Given the description of an element on the screen output the (x, y) to click on. 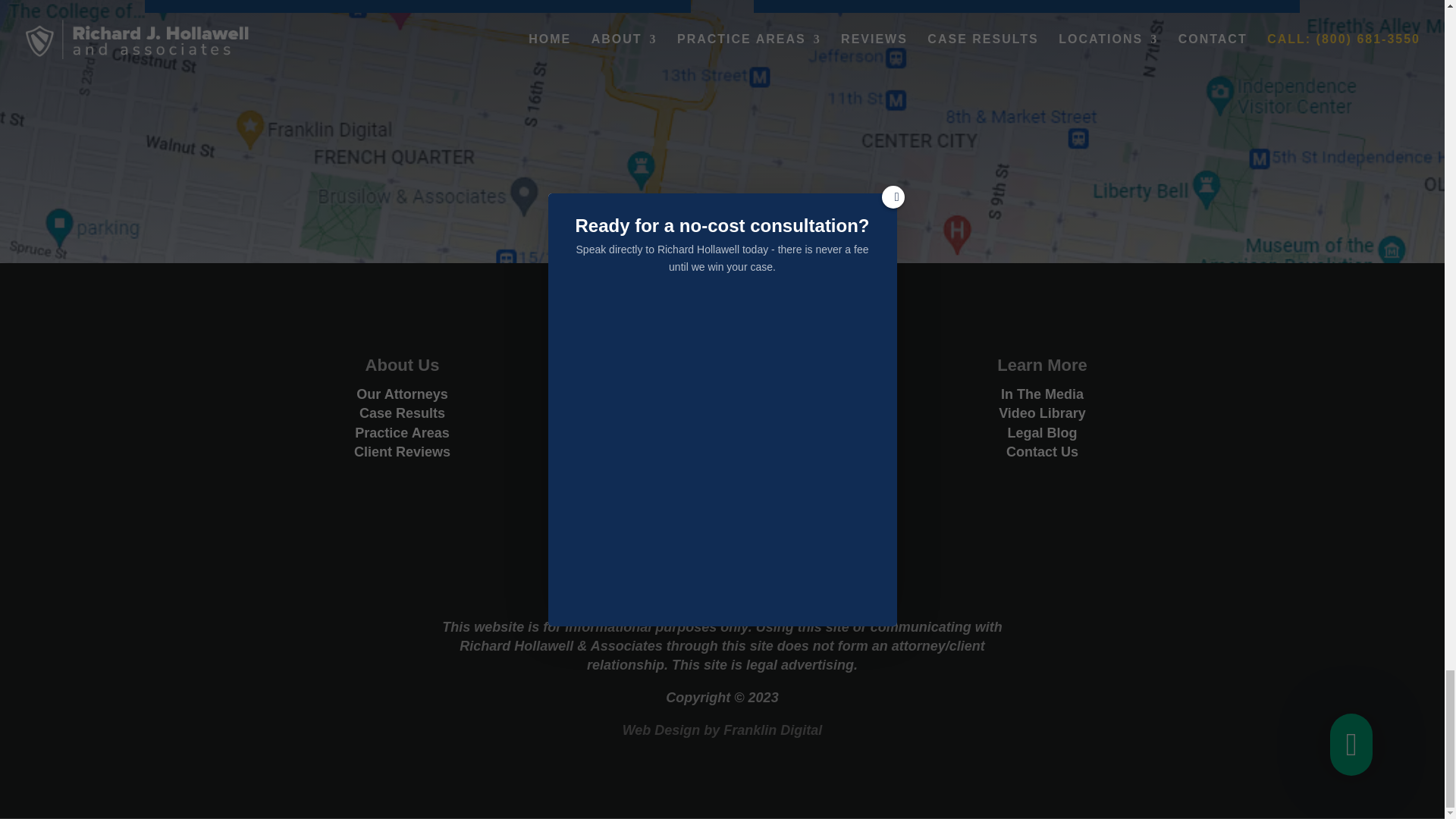
Richard-Hollawell-new-loho (721, 572)
